Given the description of an element on the screen output the (x, y) to click on. 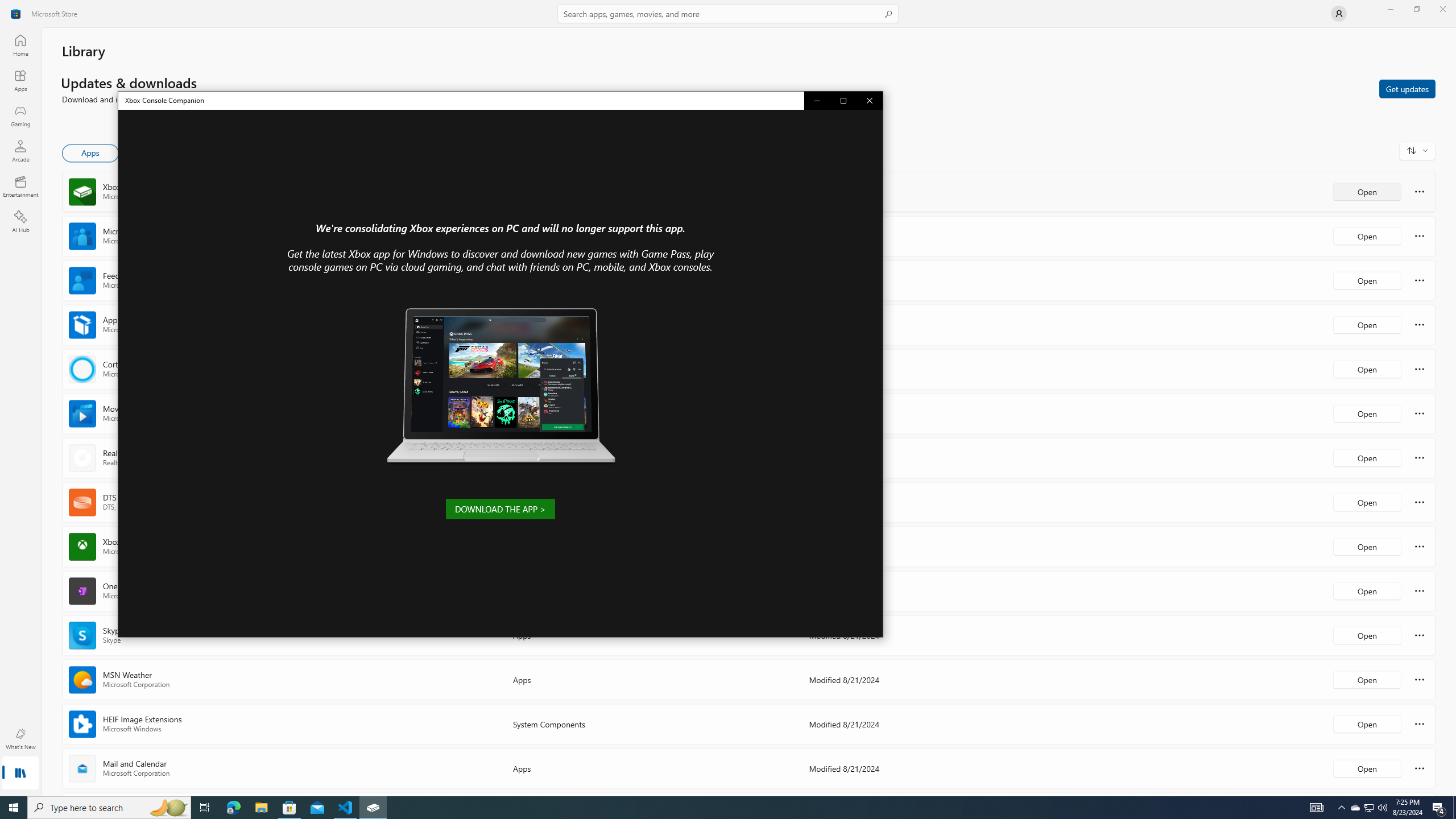
Running applications (1368, 807)
Get updates (717, 807)
AI Hub (1406, 88)
Visual Studio Code - 1 running window (20, 221)
Start (345, 807)
Restore Microsoft Store (13, 807)
Sort and filter (1416, 9)
Type here to search (1417, 149)
Maximize Xbox Console Companion (108, 807)
AutomationID: 4105 (842, 100)
Arcade (1316, 807)
Gaming (20, 150)
More options (20, 115)
Class: Image (1419, 768)
